Given the description of an element on the screen output the (x, y) to click on. 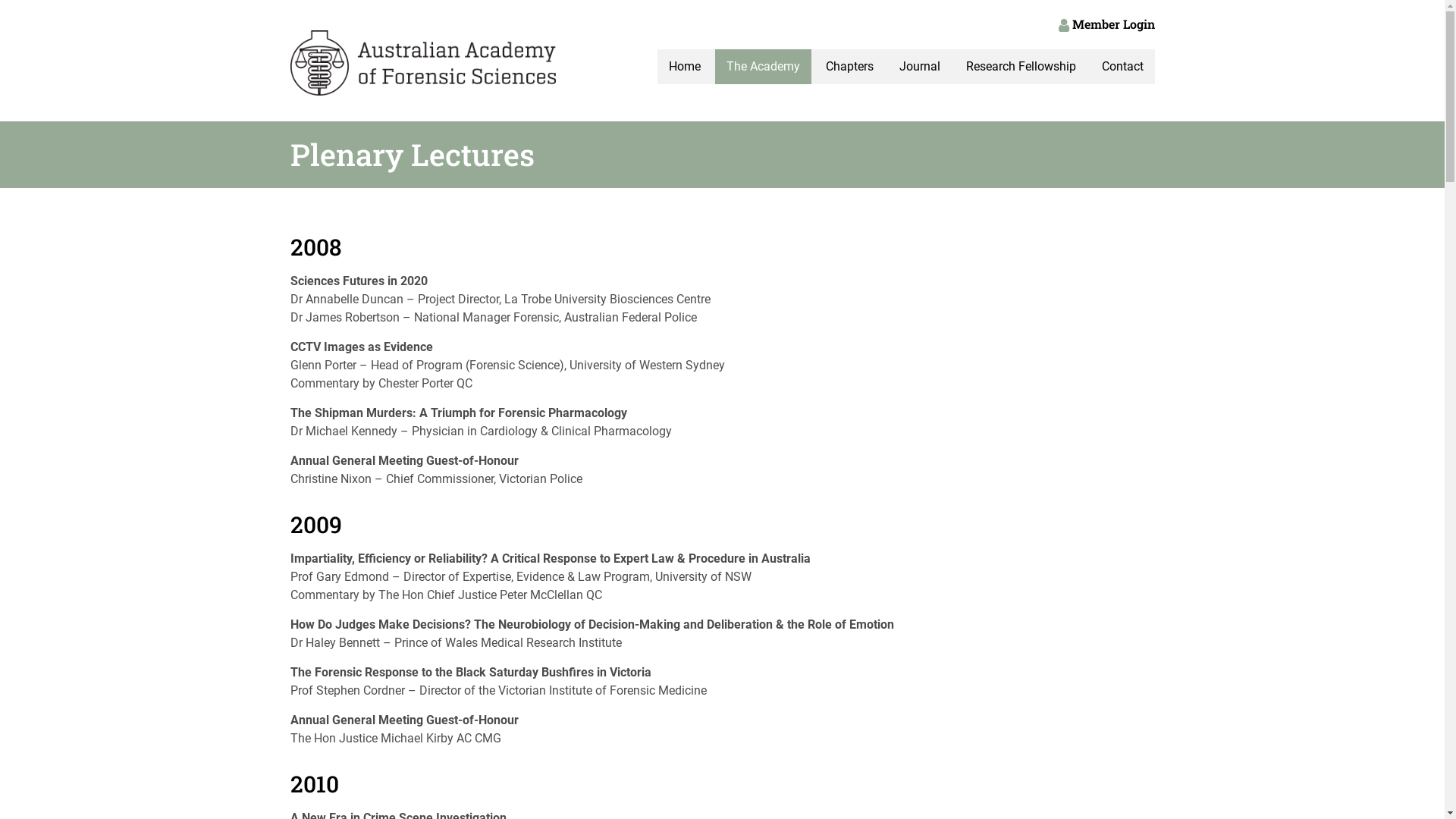
Home Element type: text (683, 66)
Research Fellowship Element type: text (1019, 66)
Chapters Element type: text (849, 66)
The Academy Element type: text (762, 66)
Journal Element type: text (918, 66)
Contact Element type: text (1122, 66)
Member Login Element type: text (1106, 24)
